Given the description of an element on the screen output the (x, y) to click on. 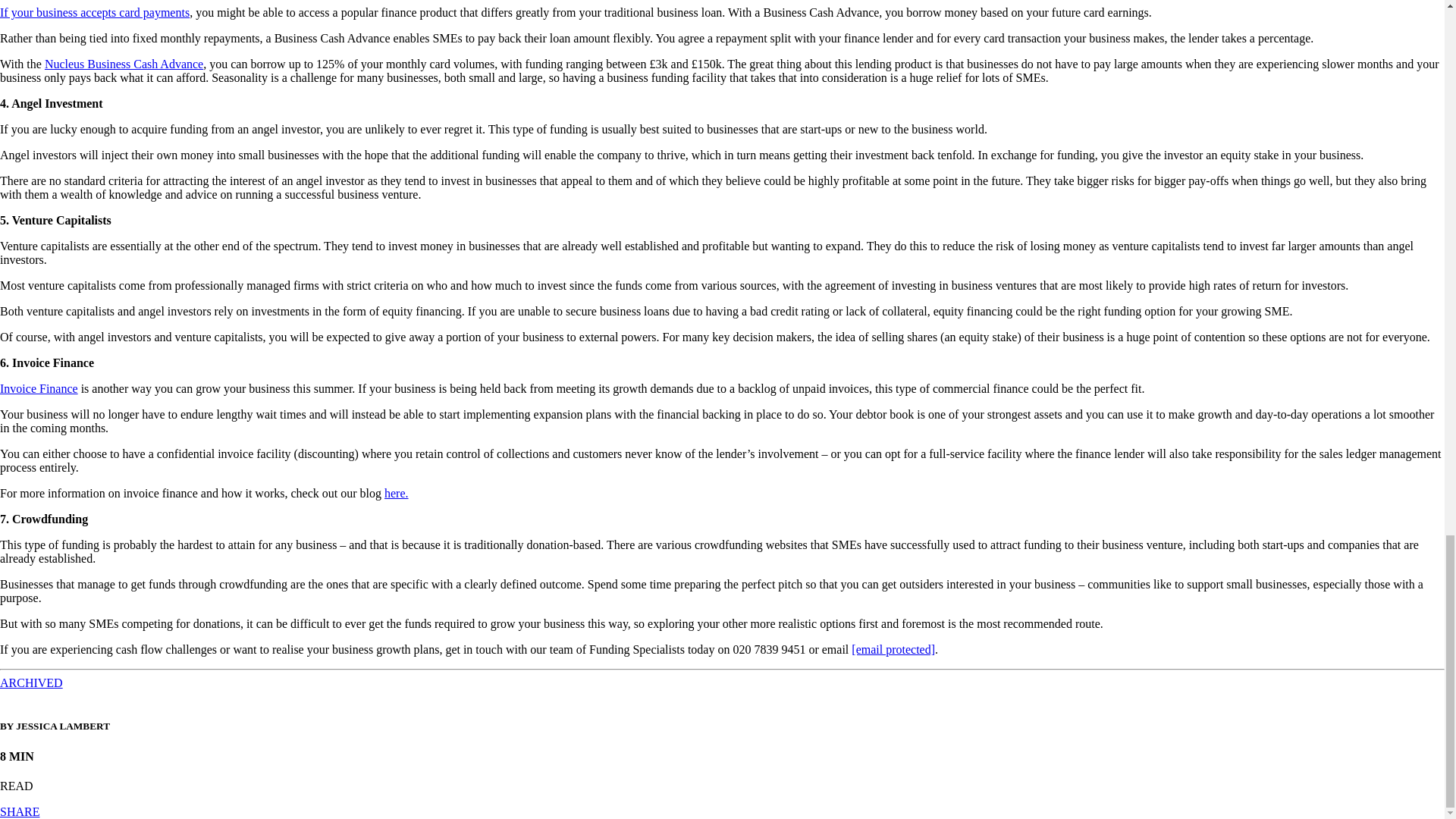
If your business accepts card payments (94, 11)
Nucleus Business Cash Advance (124, 63)
here. (396, 492)
Invoice Finance (39, 388)
SHARE (19, 811)
ARCHIVED (31, 682)
